Given the description of an element on the screen output the (x, y) to click on. 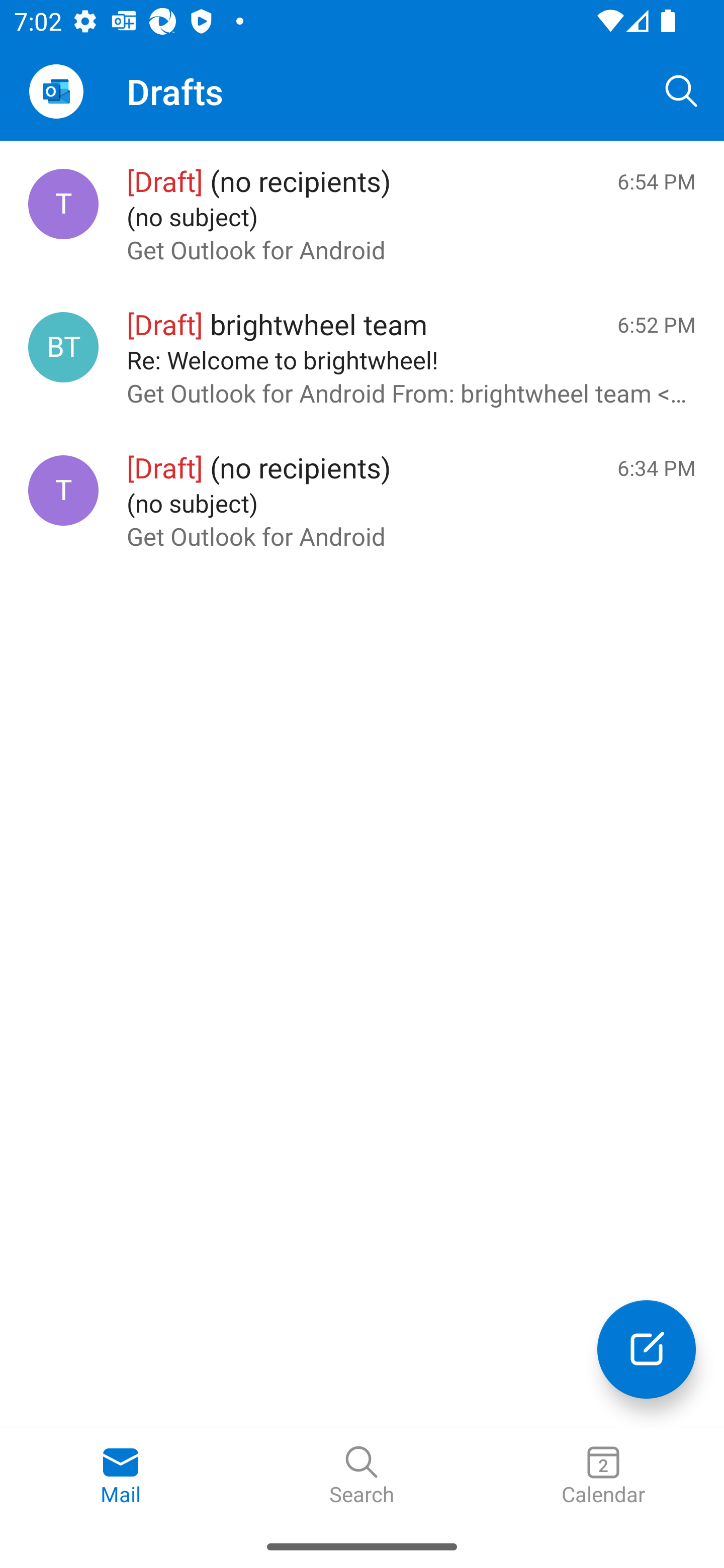
Search (681, 90)
Open Navigation Drawer (55, 91)
testappium001@outlook.com (63, 204)
brightwheel team, testappium001@outlook.com (63, 347)
testappium001@outlook.com (63, 489)
Compose (646, 1348)
Search (361, 1475)
Calendar (603, 1475)
